Given the description of an element on the screen output the (x, y) to click on. 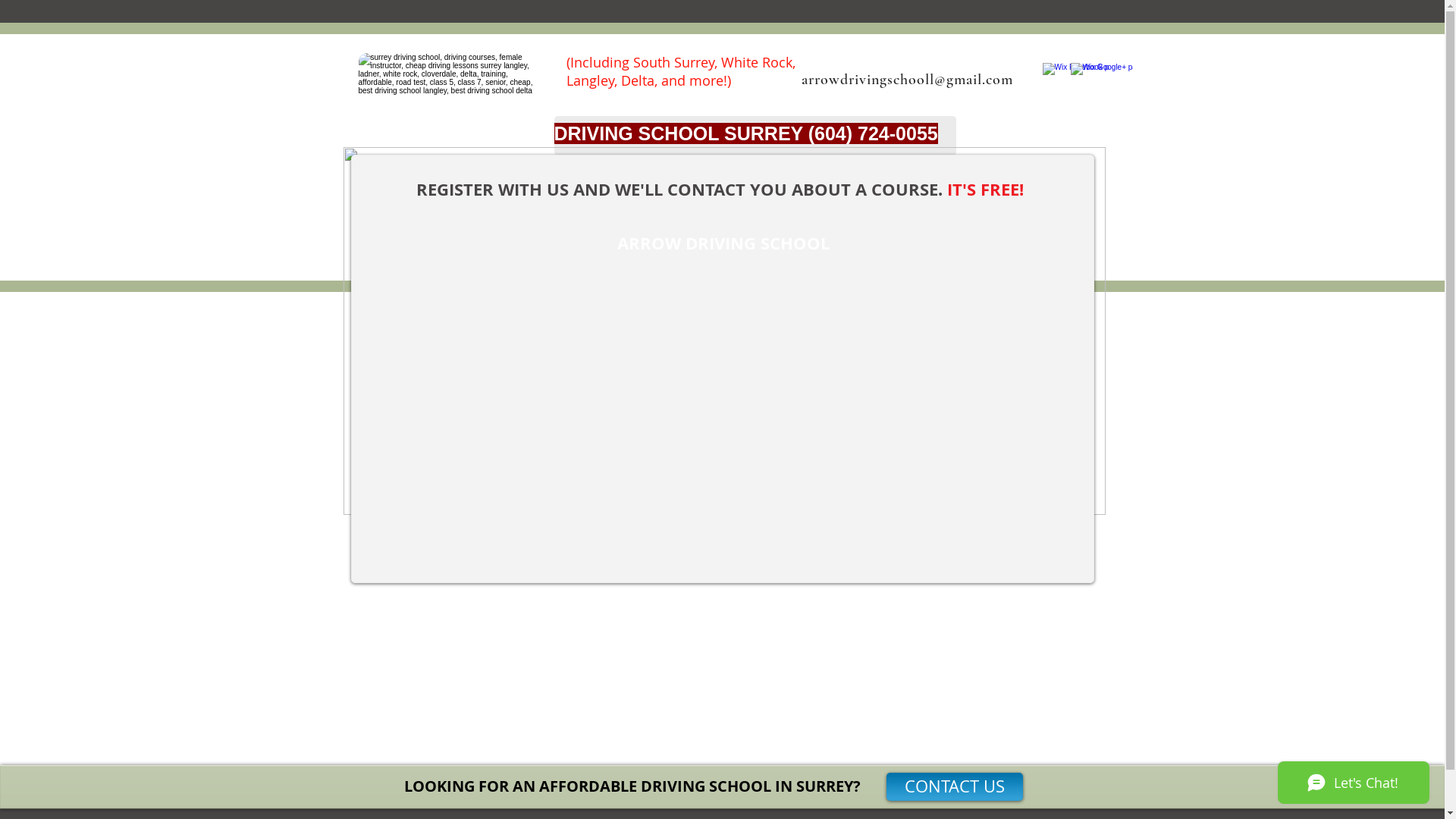
PACKAGES Element type: text (804, 200)
POLICIES Element type: text (981, 200)
REGISTRATION Element type: text (894, 200)
arrowdrivingschooll@gmail.com Element type: text (906, 79)
CONTACT US Element type: text (953, 786)
CONTACT Element type: text (1053, 200)
HOME Element type: text (736, 200)
